Given the description of an element on the screen output the (x, y) to click on. 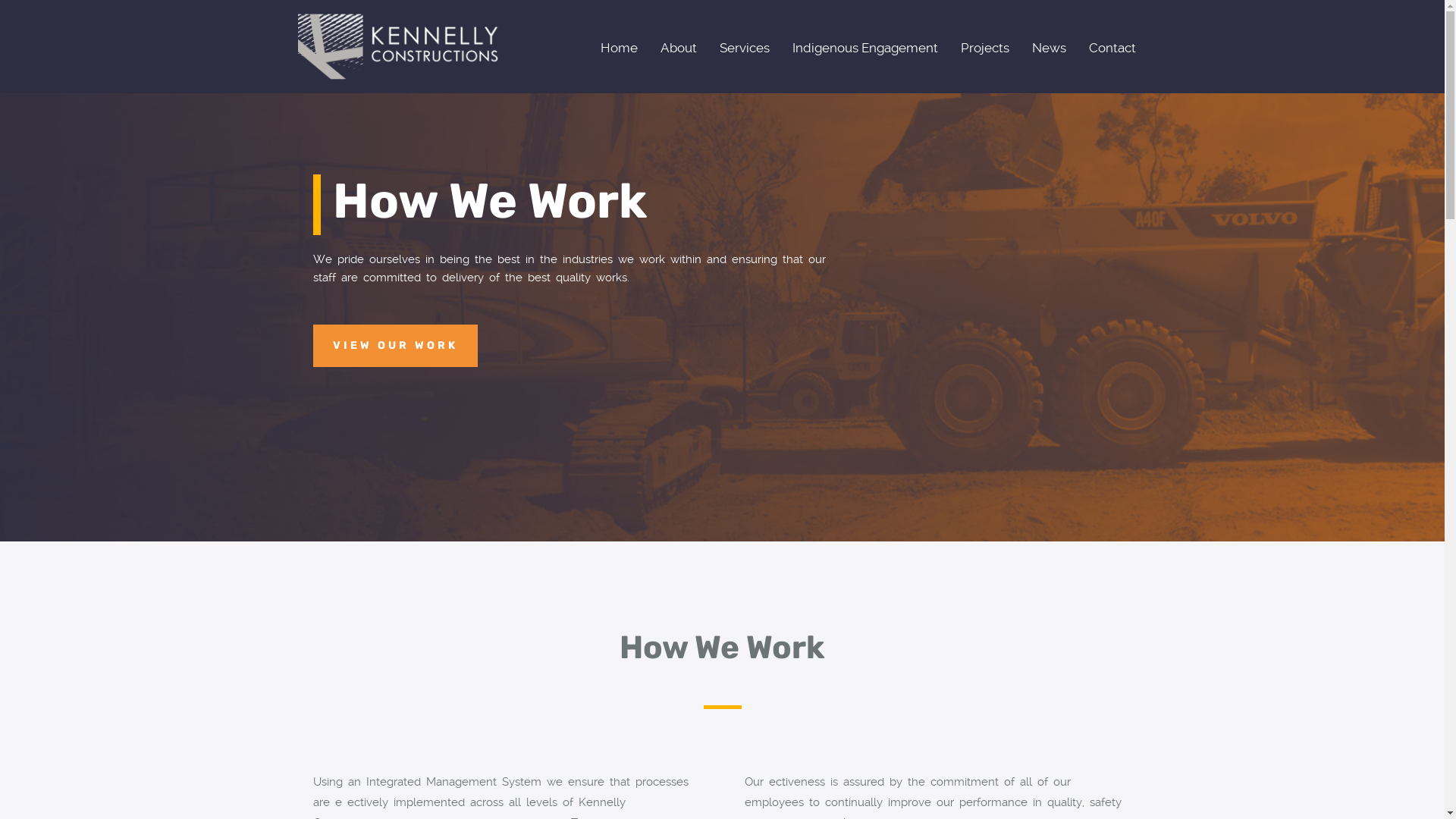
About Element type: text (678, 46)
Services Element type: text (744, 46)
Indigenous Engagement Element type: text (865, 46)
VIEW OUR WORK Element type: text (394, 345)
Home Element type: text (618, 46)
Projects Element type: text (984, 46)
Contact Element type: text (1111, 46)
News Element type: text (1048, 46)
